Given the description of an element on the screen output the (x, y) to click on. 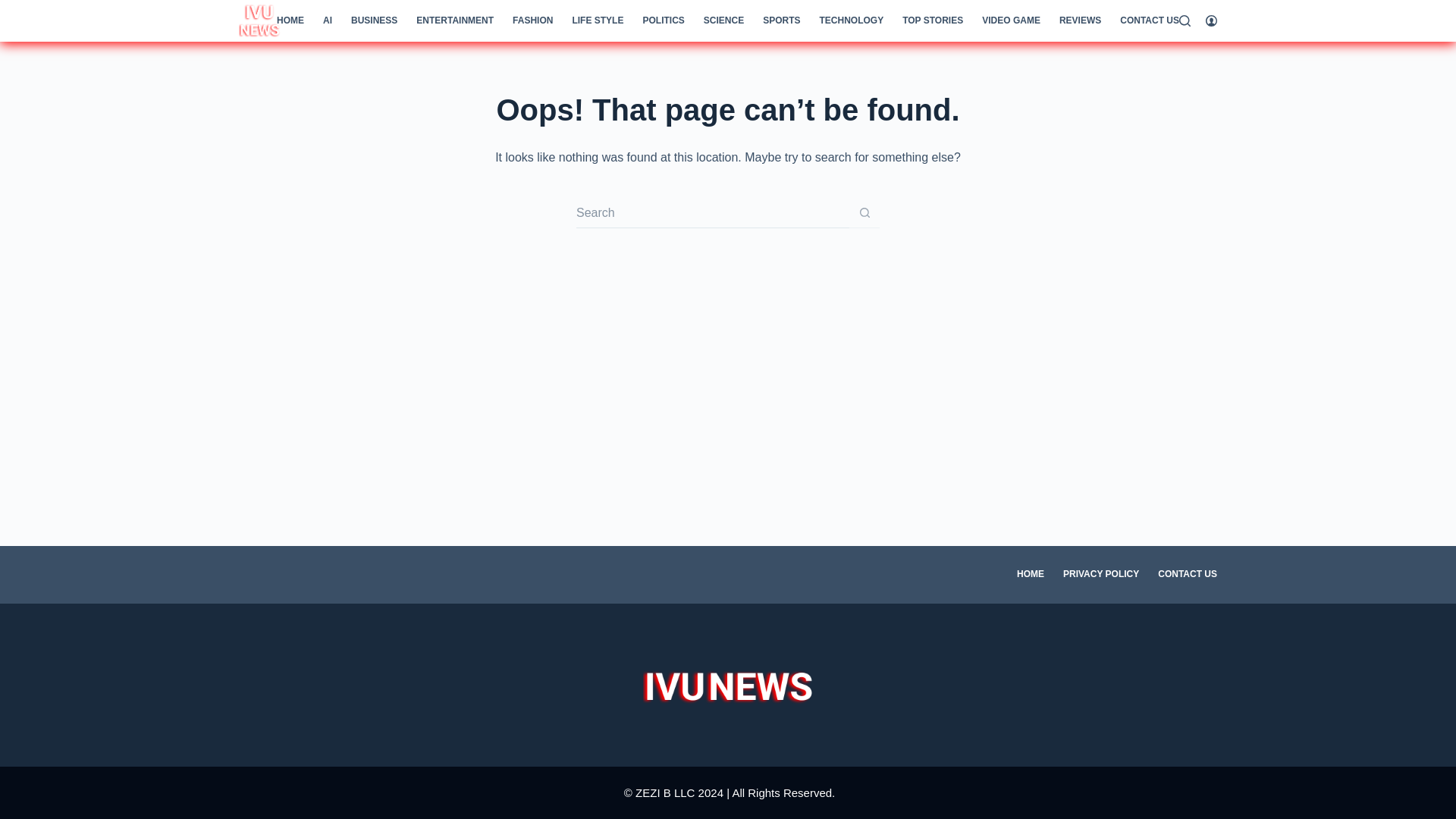
FASHION (532, 20)
POLITICS (663, 20)
HOME (289, 20)
LIFE STYLE (597, 20)
SCIENCE (723, 20)
ENTERTAINMENT (455, 20)
Skip to content (15, 7)
CONTACT US (1149, 20)
VIDEO GAME (1010, 20)
TECHNOLOGY (851, 20)
TOP STORIES (932, 20)
REVIEWS (1079, 20)
SPORTS (781, 20)
BUSINESS (373, 20)
Search for... (712, 213)
